Given the description of an element on the screen output the (x, y) to click on. 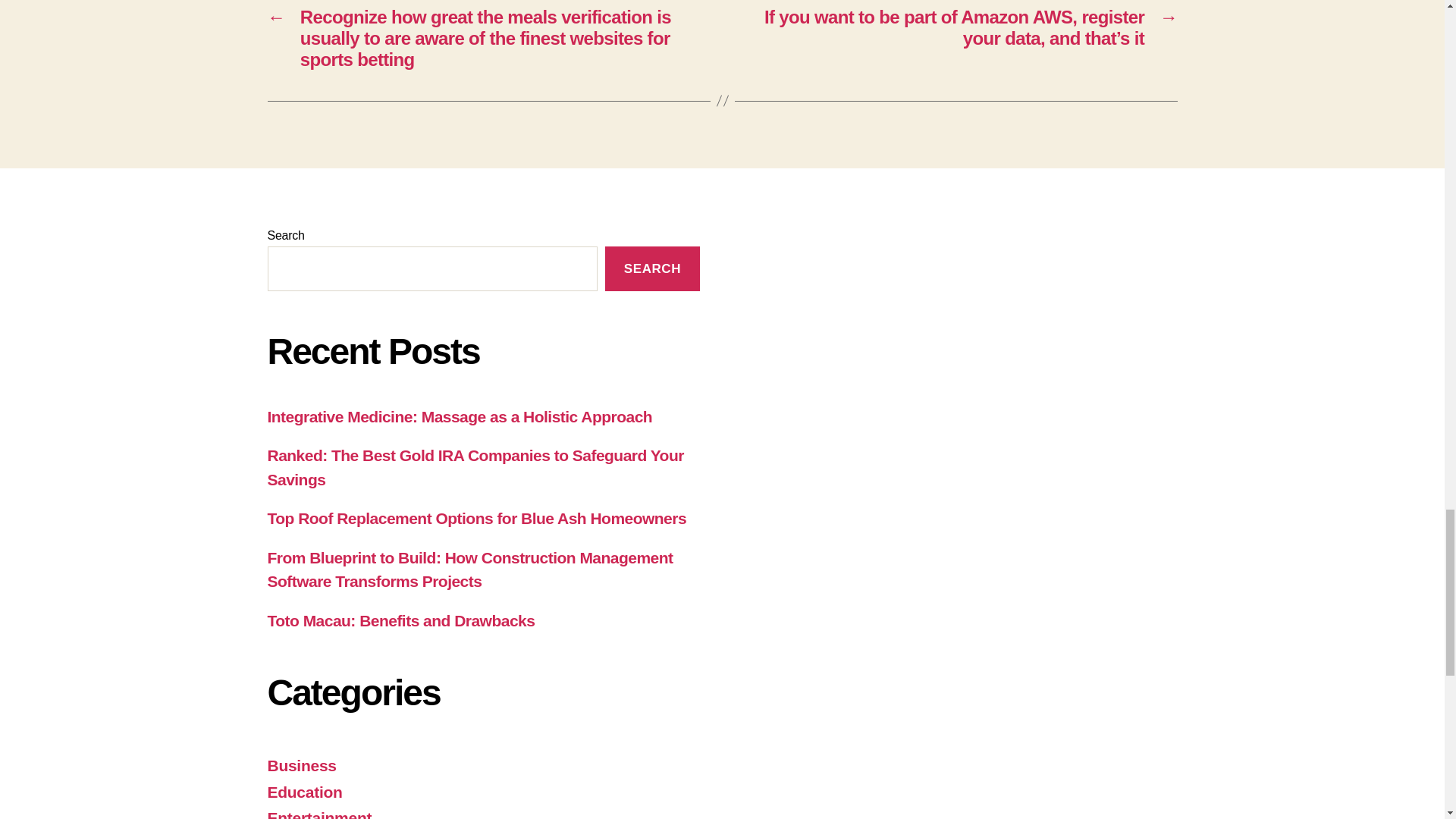
Integrative Medicine: Massage as a Holistic Approach (459, 416)
Education (304, 791)
Toto Macau: Benefits and Drawbacks (400, 620)
SEARCH (651, 268)
Business (301, 764)
Entertainment (318, 814)
Top Roof Replacement Options for Blue Ash Homeowners (475, 518)
